Given the description of an element on the screen output the (x, y) to click on. 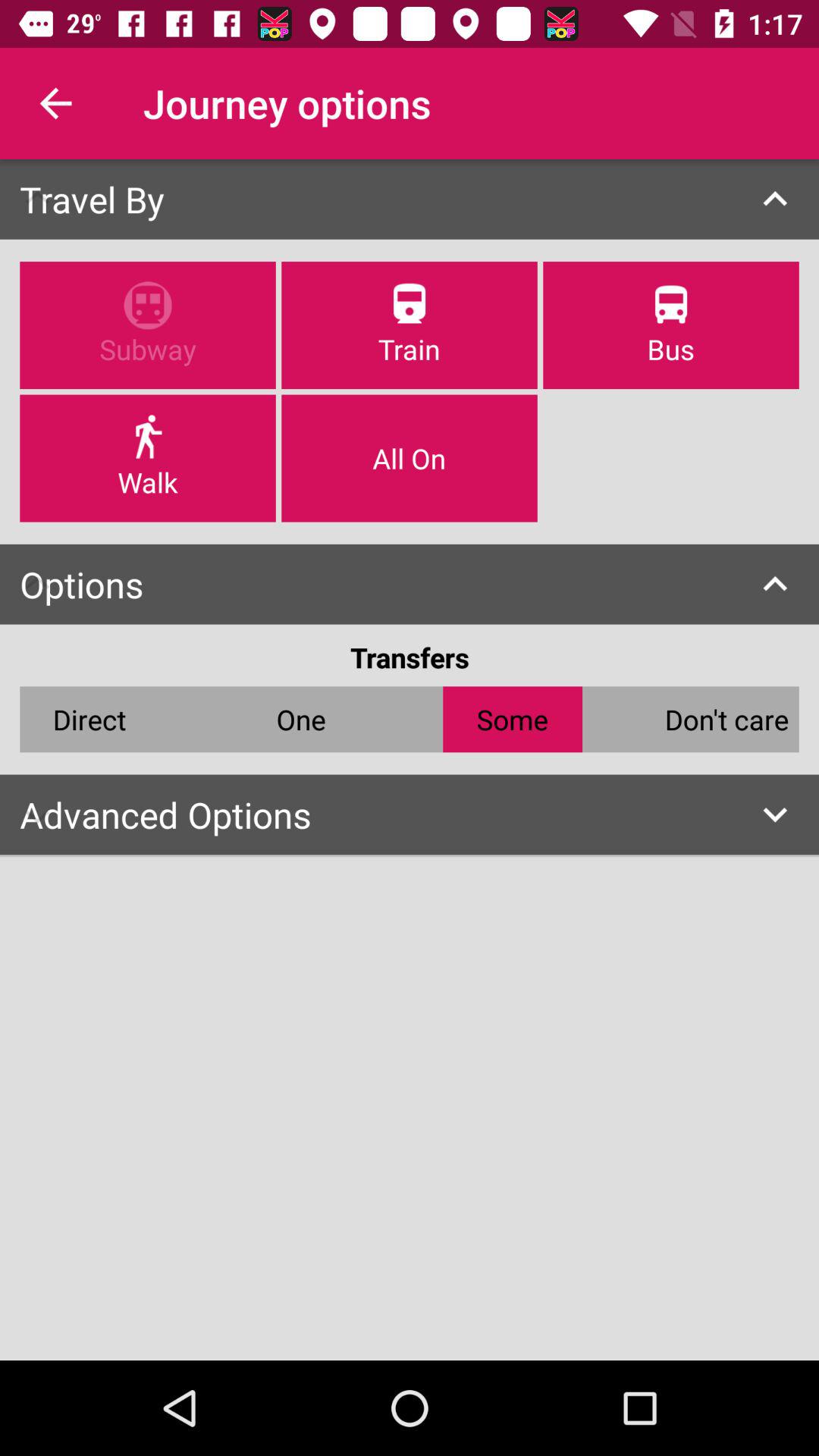
scroll to the one item (300, 719)
